Given the description of an element on the screen output the (x, y) to click on. 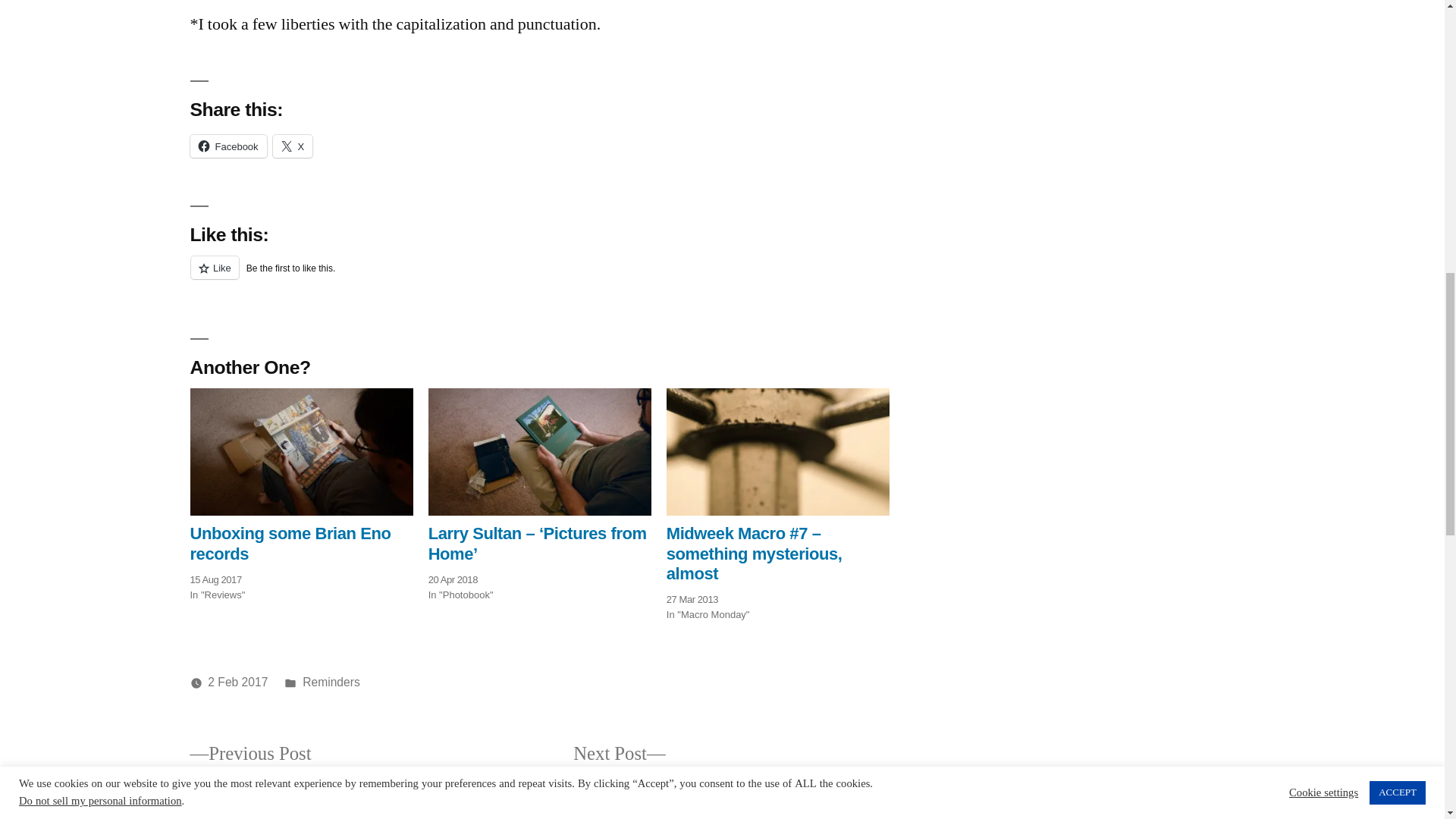
Facebook (227, 146)
Unboxing some Brian Eno records (289, 543)
Click to share on X (293, 146)
Click to share on Facebook (227, 146)
Unboxing some Brian Eno records (300, 451)
Like or Reblog (542, 276)
